Given the description of an element on the screen output the (x, y) to click on. 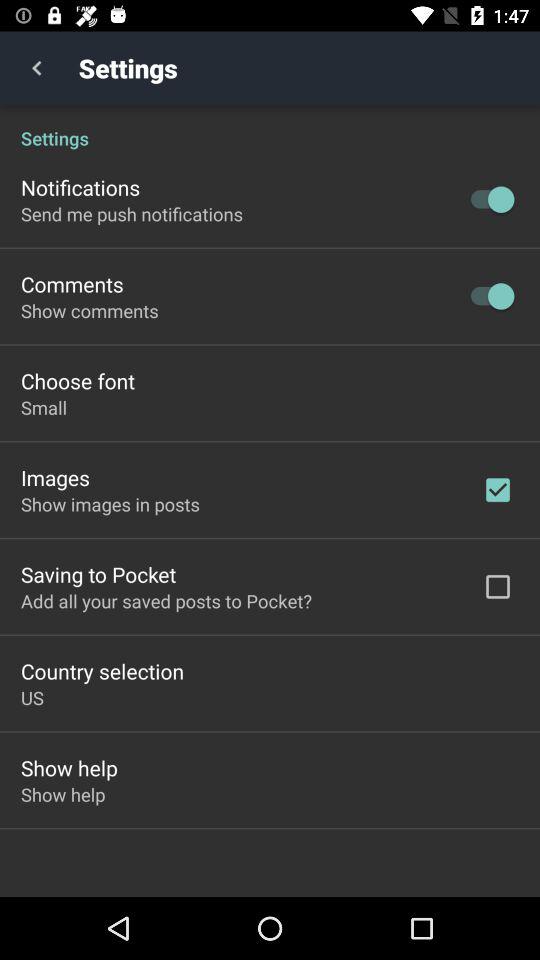
press icon above the small (78, 380)
